Given the description of an element on the screen output the (x, y) to click on. 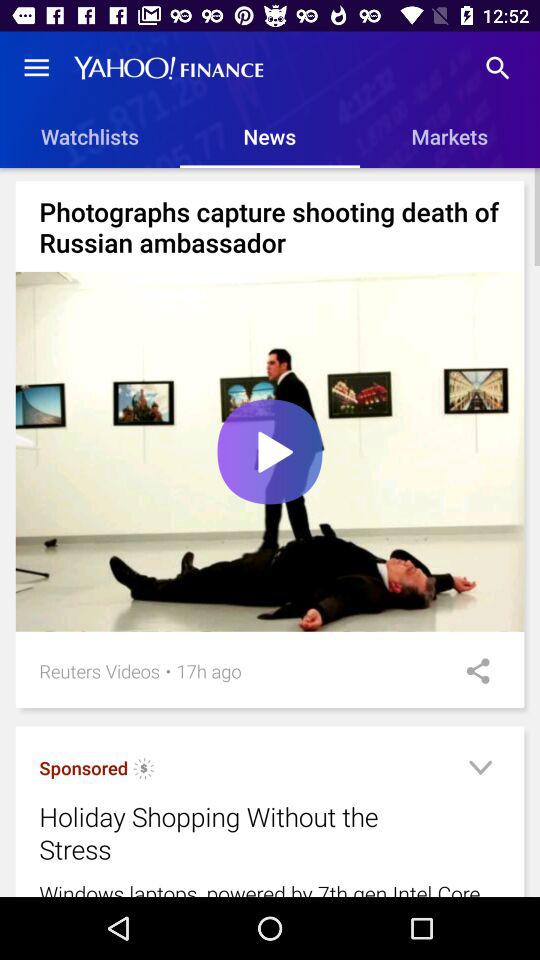
select the item above holiday shopping without icon (208, 670)
